Given the description of an element on the screen output the (x, y) to click on. 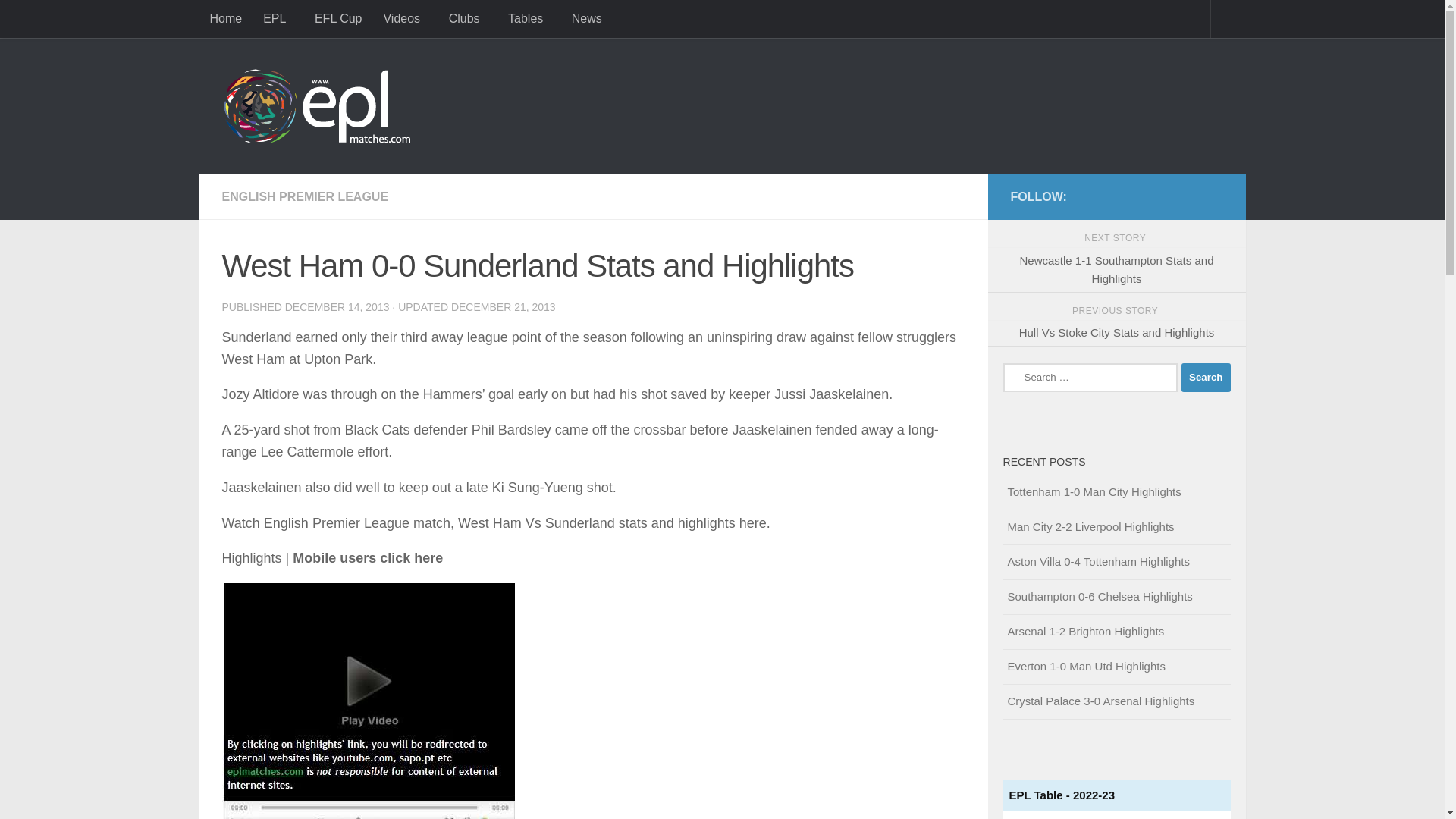
EPL (277, 18)
Clubs (467, 18)
Videos (405, 18)
Search (1205, 377)
Home (224, 18)
Skip to content (63, 20)
Tables (528, 18)
Search (1205, 377)
News (586, 18)
EFL Cup (338, 18)
